Given the description of an element on the screen output the (x, y) to click on. 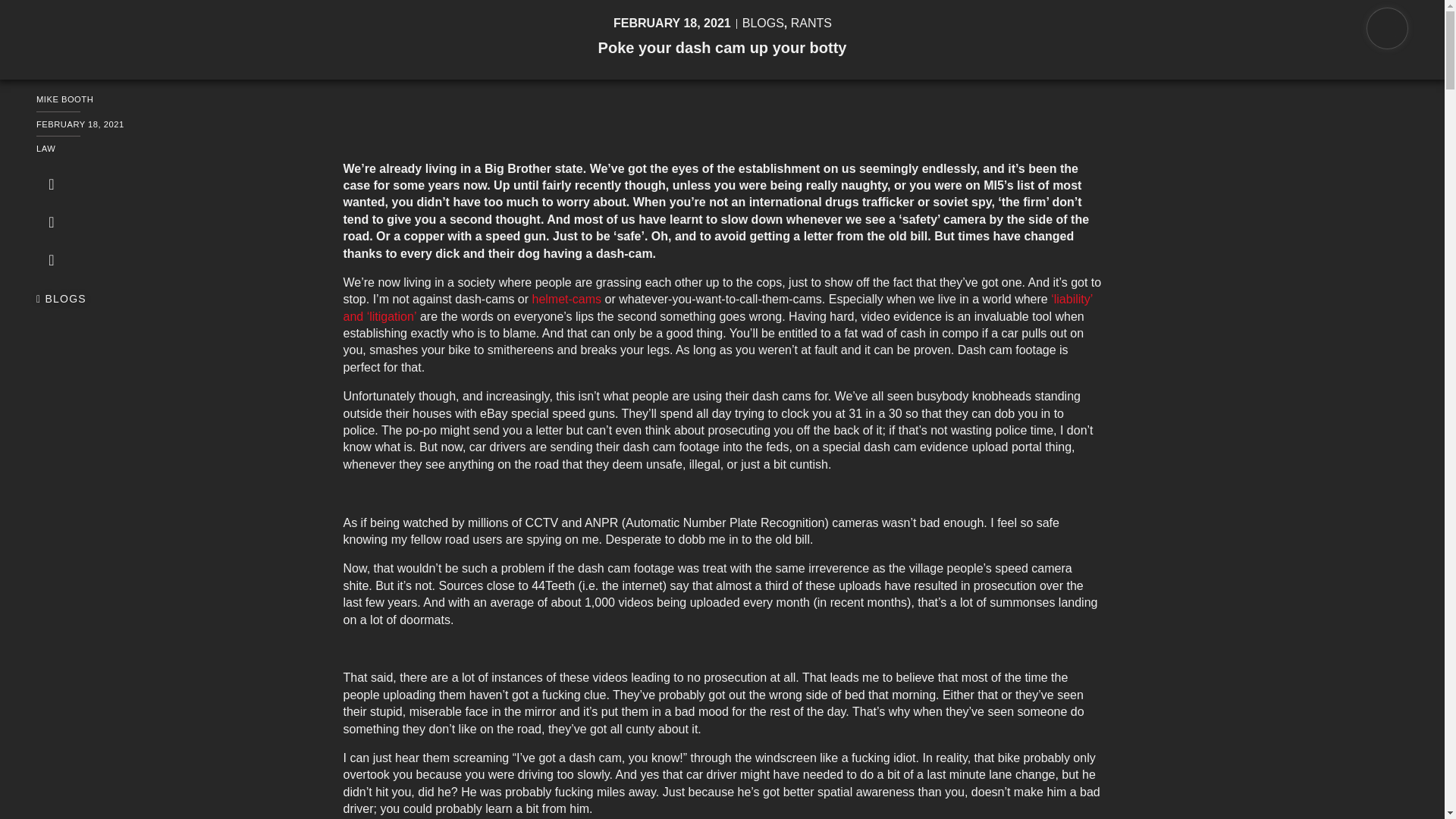
BLOGS (763, 22)
RANTS (810, 22)
helmet-cams (567, 298)
BLOGS (60, 298)
